Given the description of an element on the screen output the (x, y) to click on. 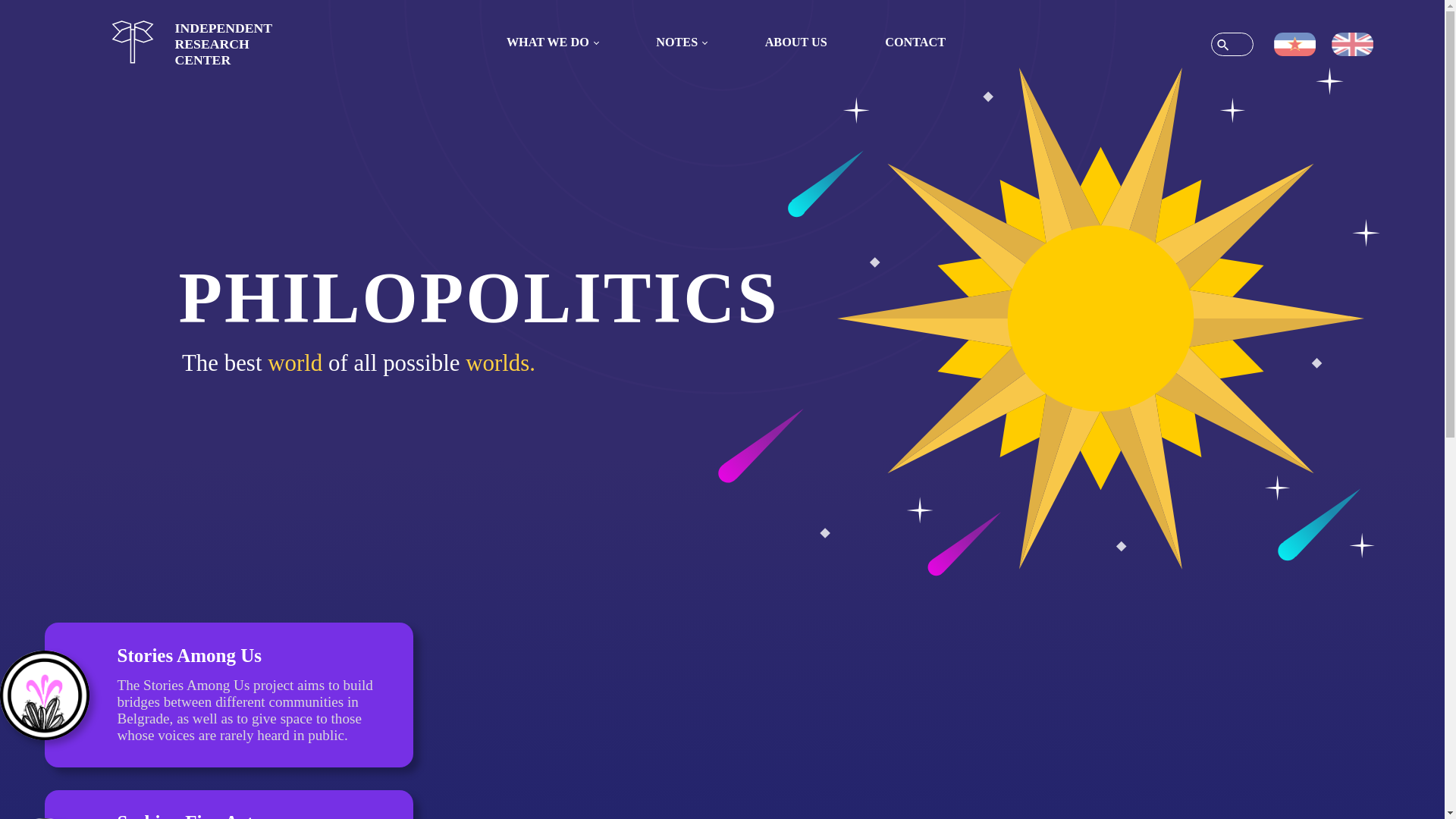
WHAT WE DO (552, 43)
ABOUT US (191, 44)
NOTES (795, 43)
CONTACT (681, 43)
